Given the description of an element on the screen output the (x, y) to click on. 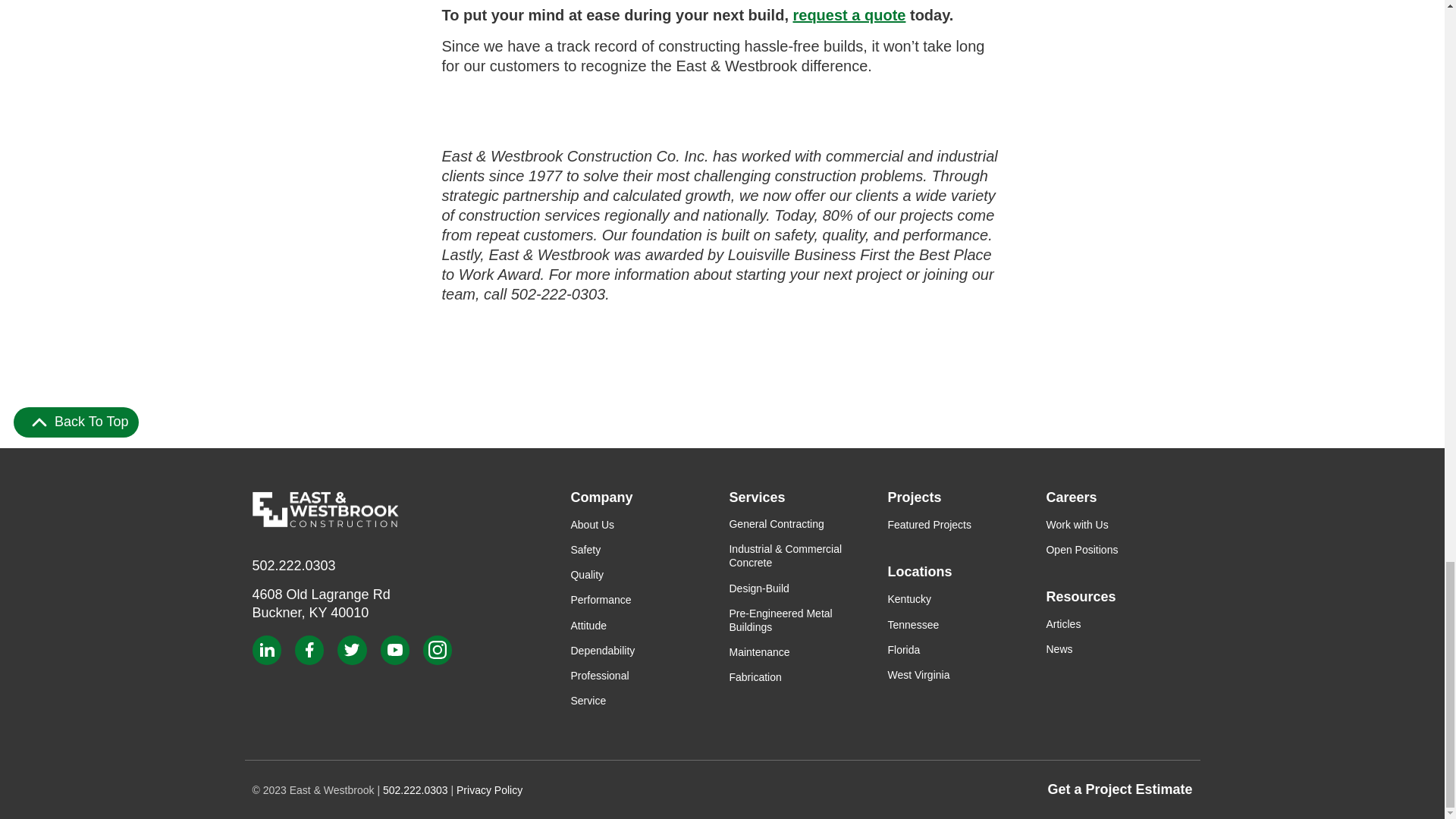
Featured Projects (928, 524)
502.222.0303 (292, 565)
Services (802, 497)
Safety (584, 549)
Service (587, 700)
Design-Build (320, 603)
Fabrication (759, 588)
Dependability (754, 676)
Professional (602, 650)
Performance (599, 675)
Maintenance (600, 599)
About Us (759, 652)
General Contracting (592, 524)
Attitude (776, 523)
